Given the description of an element on the screen output the (x, y) to click on. 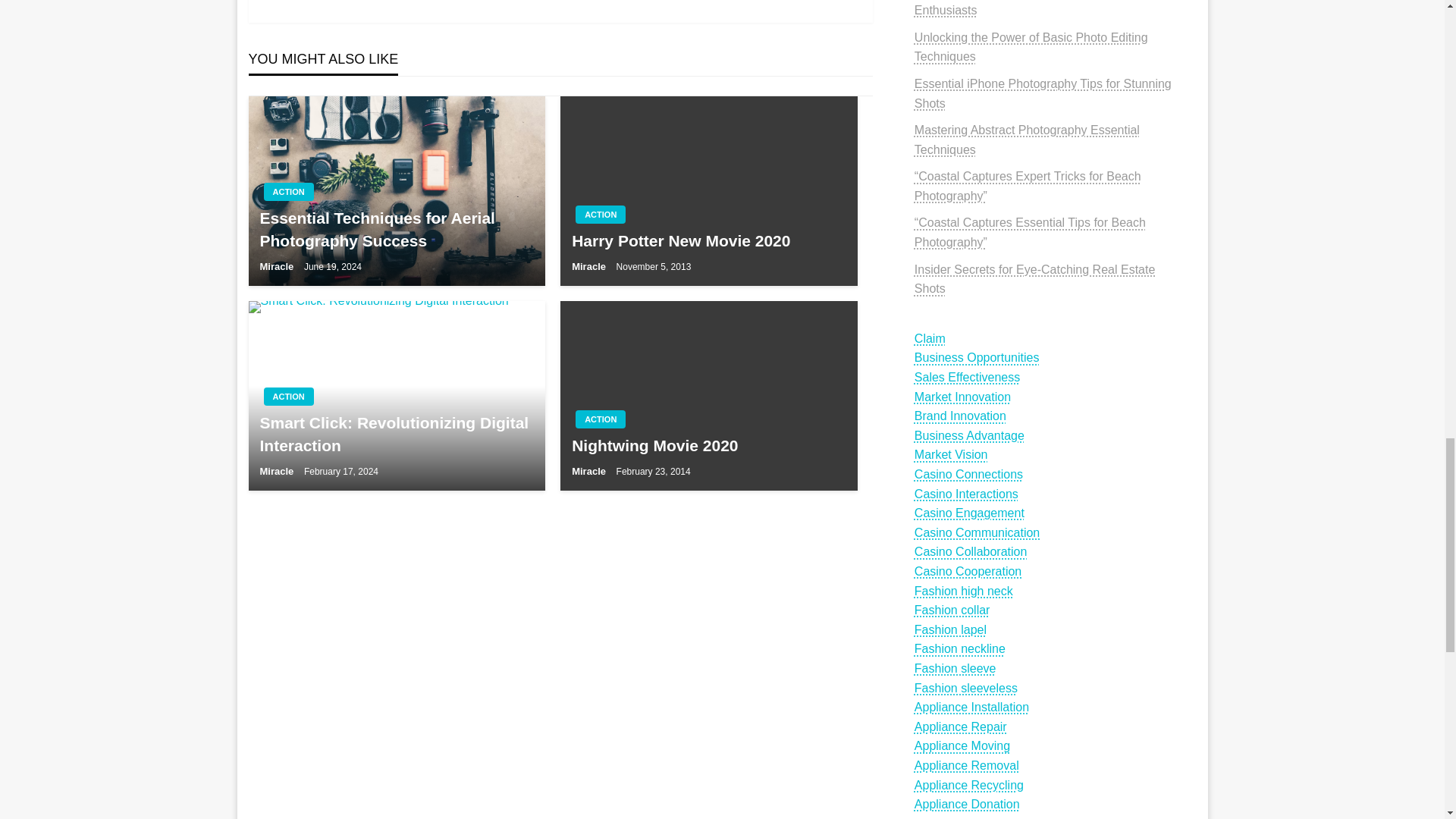
Miracle (590, 266)
Harry Potter New Movie 2020 (708, 240)
ACTION (288, 191)
ACTION (600, 214)
Miracle (277, 266)
Essential Techniques for Aerial Photography Success (396, 229)
Smart Click: Revolutionizing Digital Interaction (397, 395)
Essential Techniques for Aerial Photography Success (397, 190)
